Given the description of an element on the screen output the (x, y) to click on. 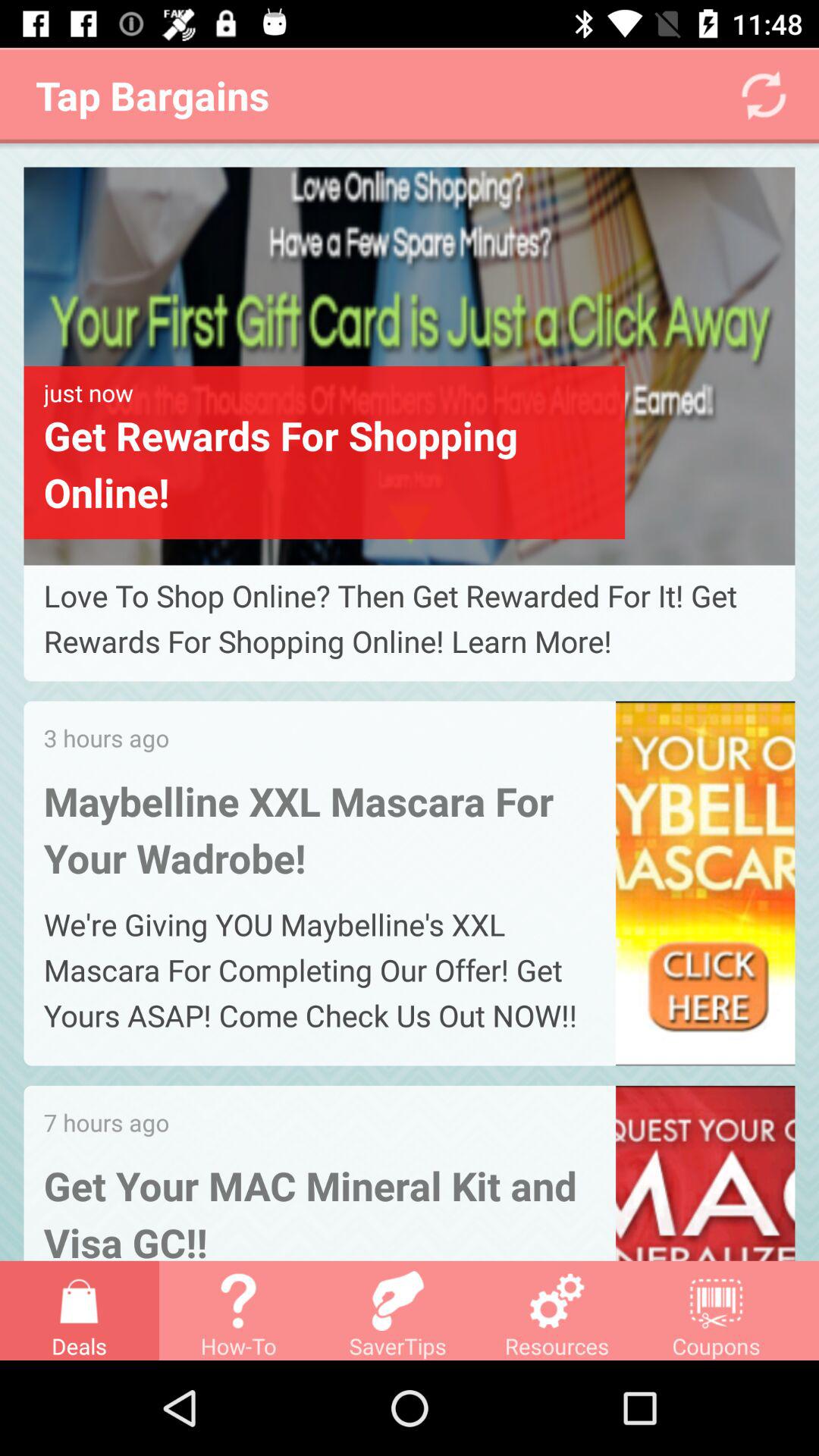
choose first image at bottom (409, 366)
select the symbol above deals (78, 1300)
